Given the description of an element on the screen output the (x, y) to click on. 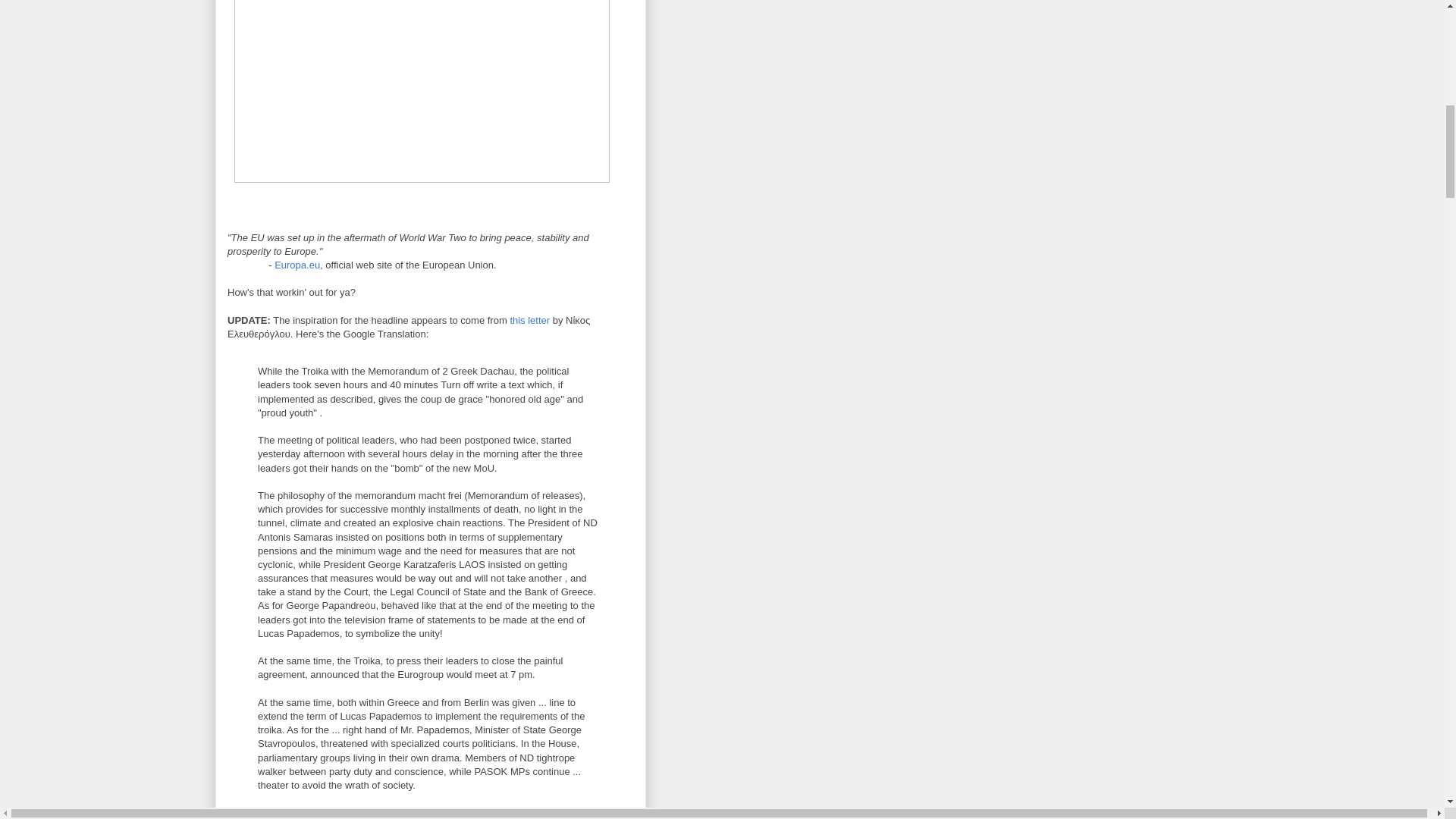
this letter (529, 319)
Europa.eu (297, 265)
